Given the description of an element on the screen output the (x, y) to click on. 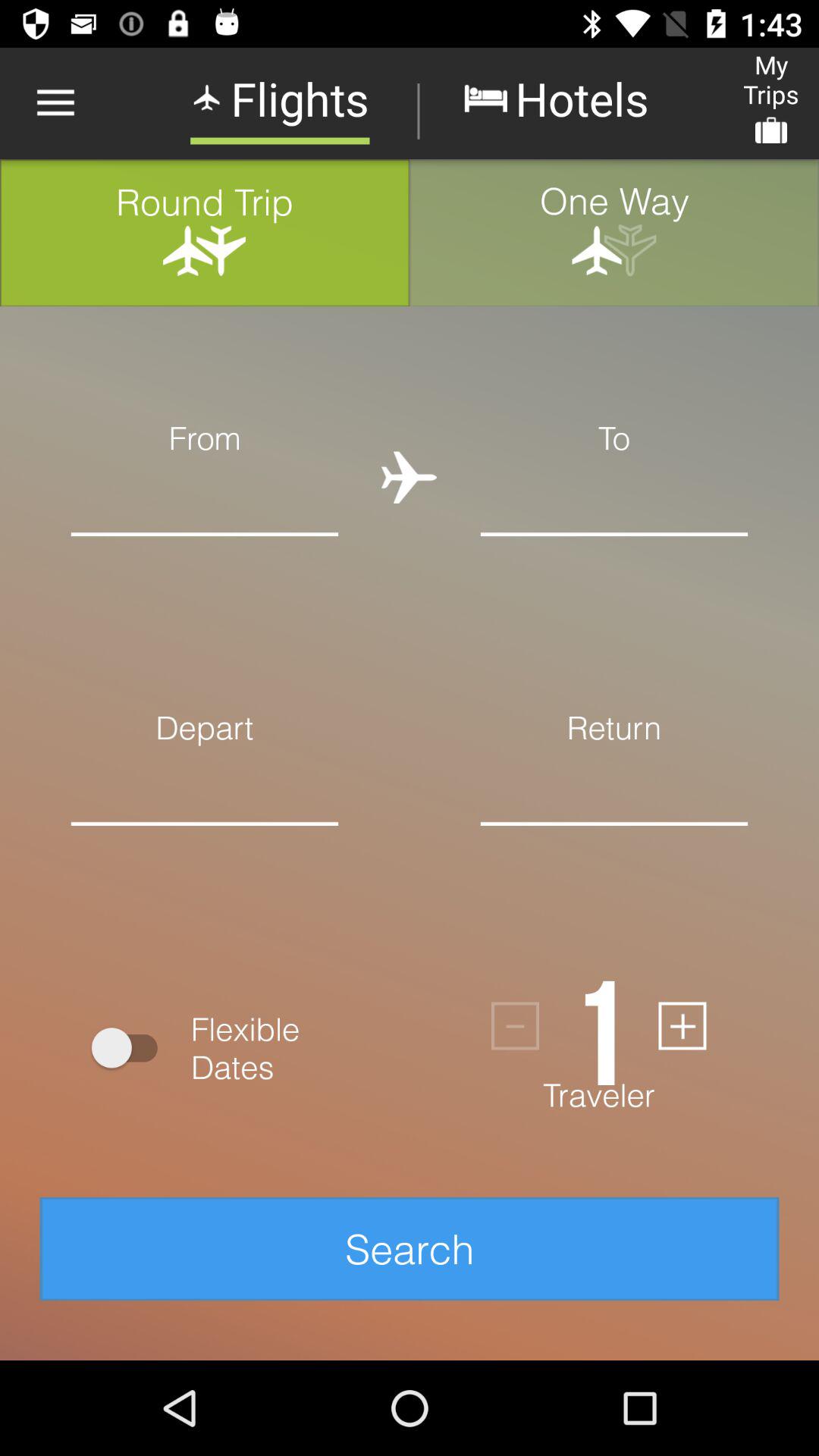
add person (682, 1025)
